Given the description of an element on the screen output the (x, y) to click on. 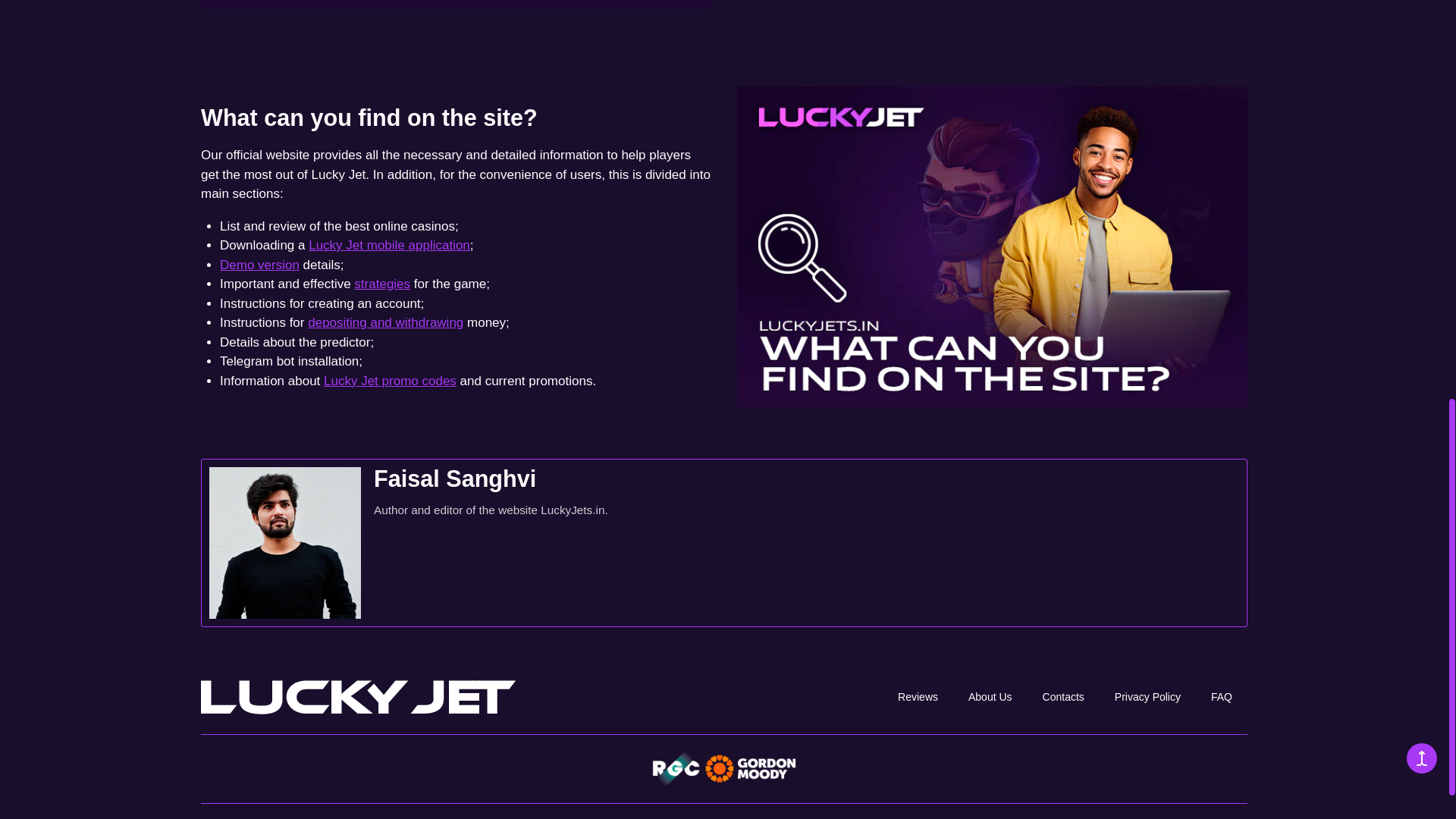
FAQ (1221, 697)
Privacy Policy (1147, 697)
strategies (381, 283)
Reviews (917, 697)
depositing and withdrawing (385, 322)
About Us (989, 697)
Contacts (1063, 697)
Lucky Jet mobile application (389, 245)
Lucky Jet promo codes (390, 380)
